Given the description of an element on the screen output the (x, y) to click on. 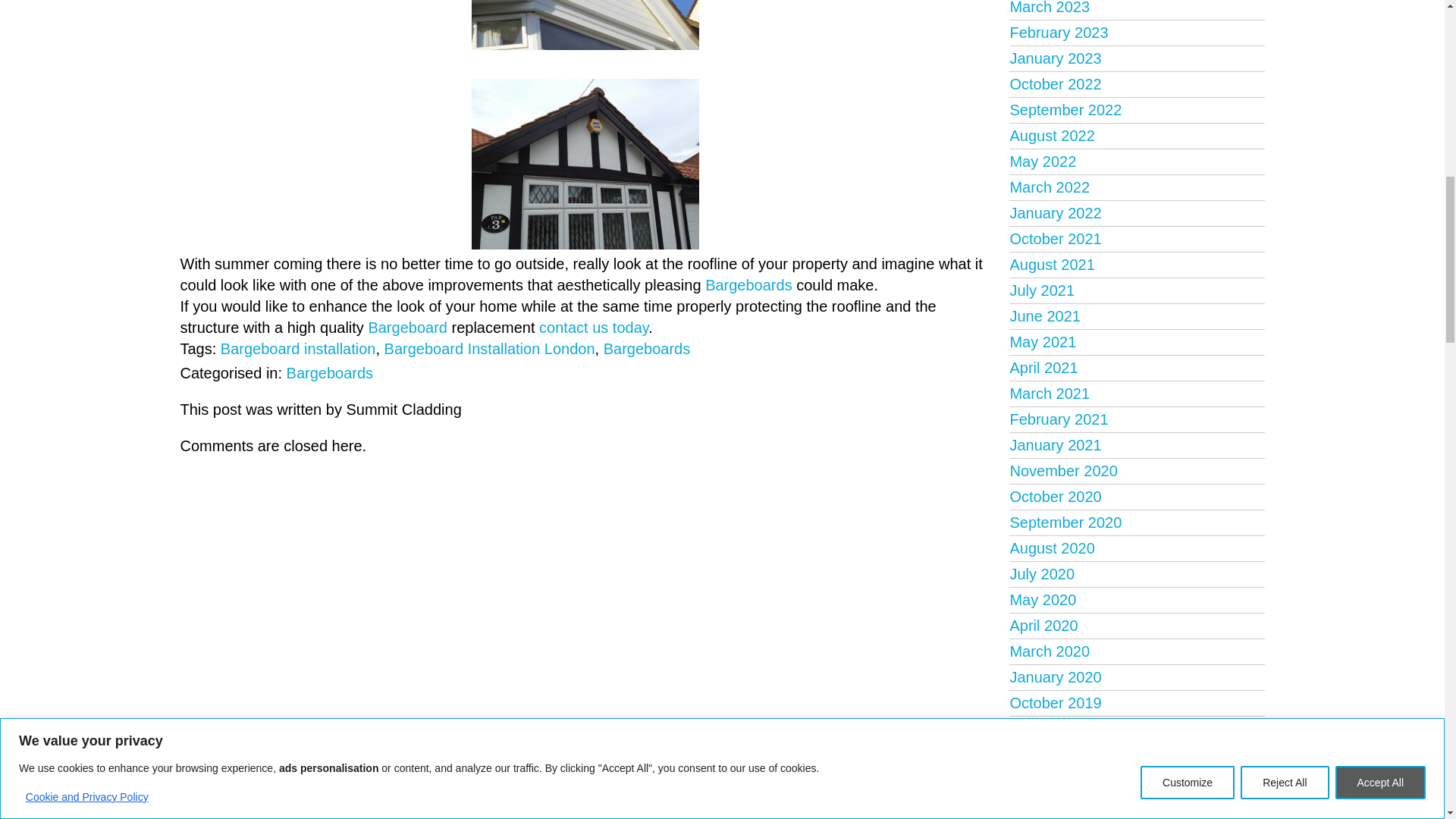
Bargeboards (584, 24)
Bargeboards (585, 24)
Bargeboards (584, 163)
